Given the description of an element on the screen output the (x, y) to click on. 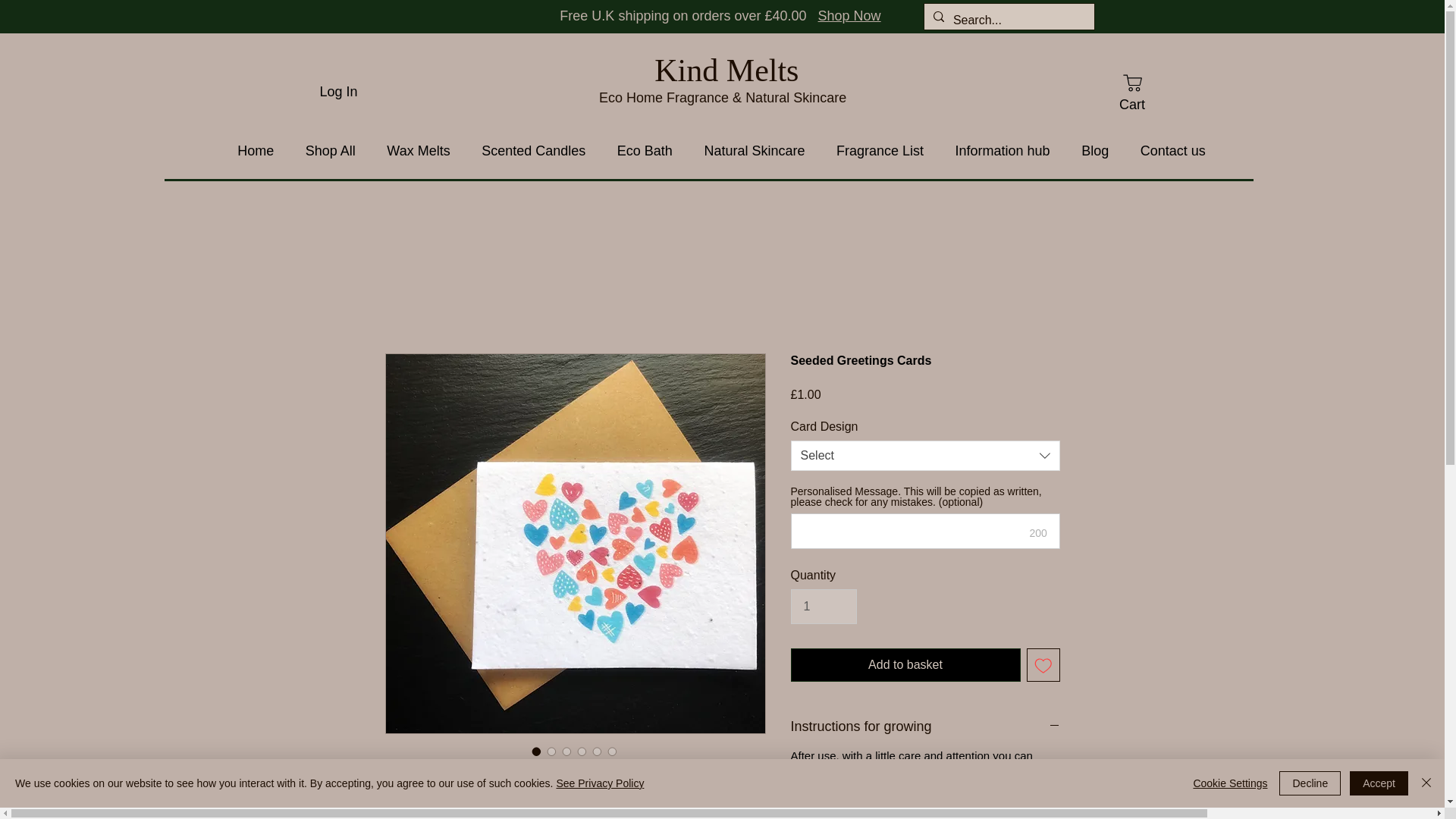
Shop All (330, 152)
Wax Melts (419, 152)
Blog (1094, 152)
Shop Now (849, 15)
Cart (1131, 91)
Eco Bath (644, 152)
1 (823, 606)
Log In (338, 91)
Information hub (1003, 152)
Contact us (1173, 152)
